Given the description of an element on the screen output the (x, y) to click on. 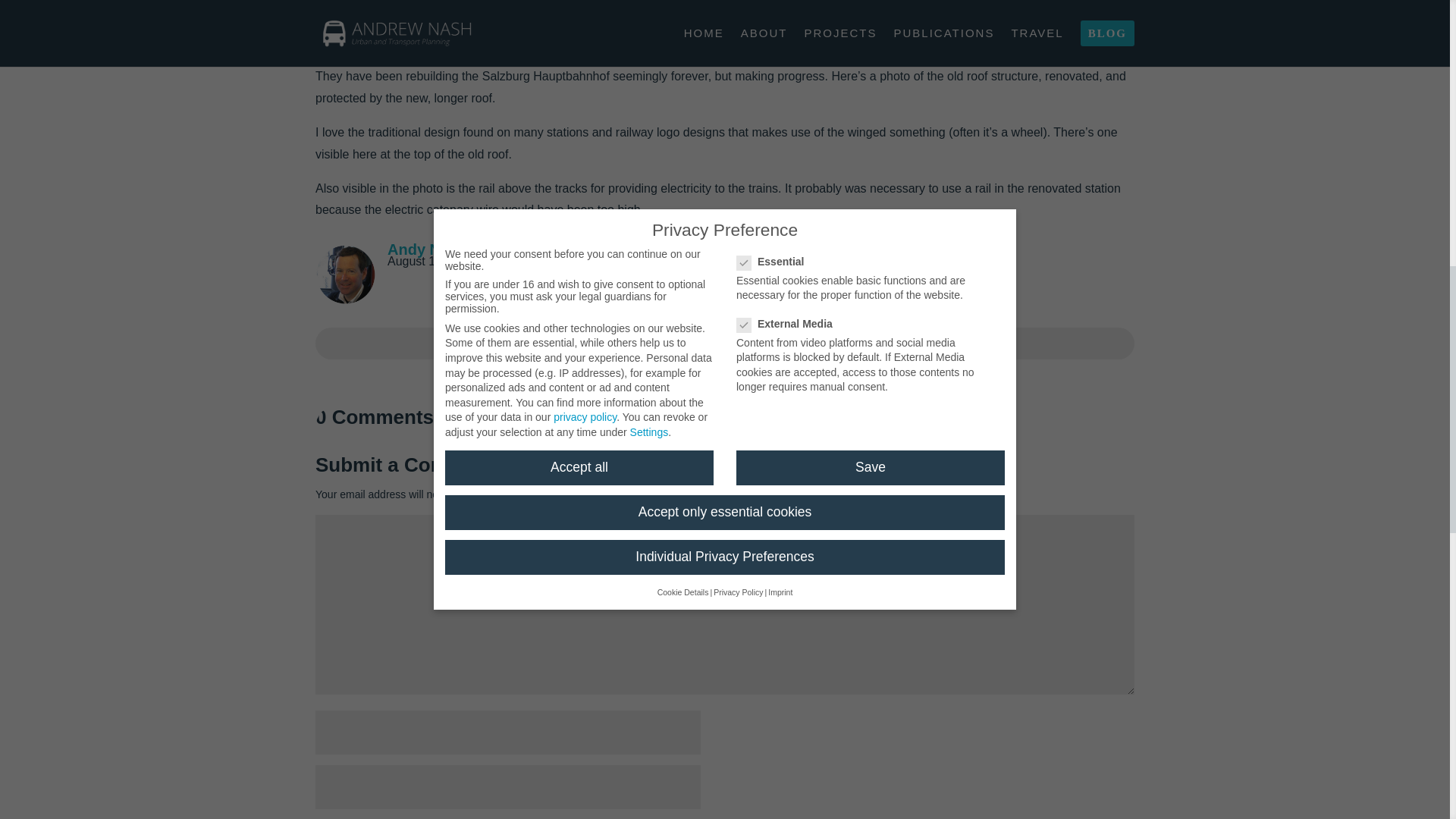
Travel (791, 342)
Blog (654, 342)
Transportation (720, 342)
